Given the description of an element on the screen output the (x, y) to click on. 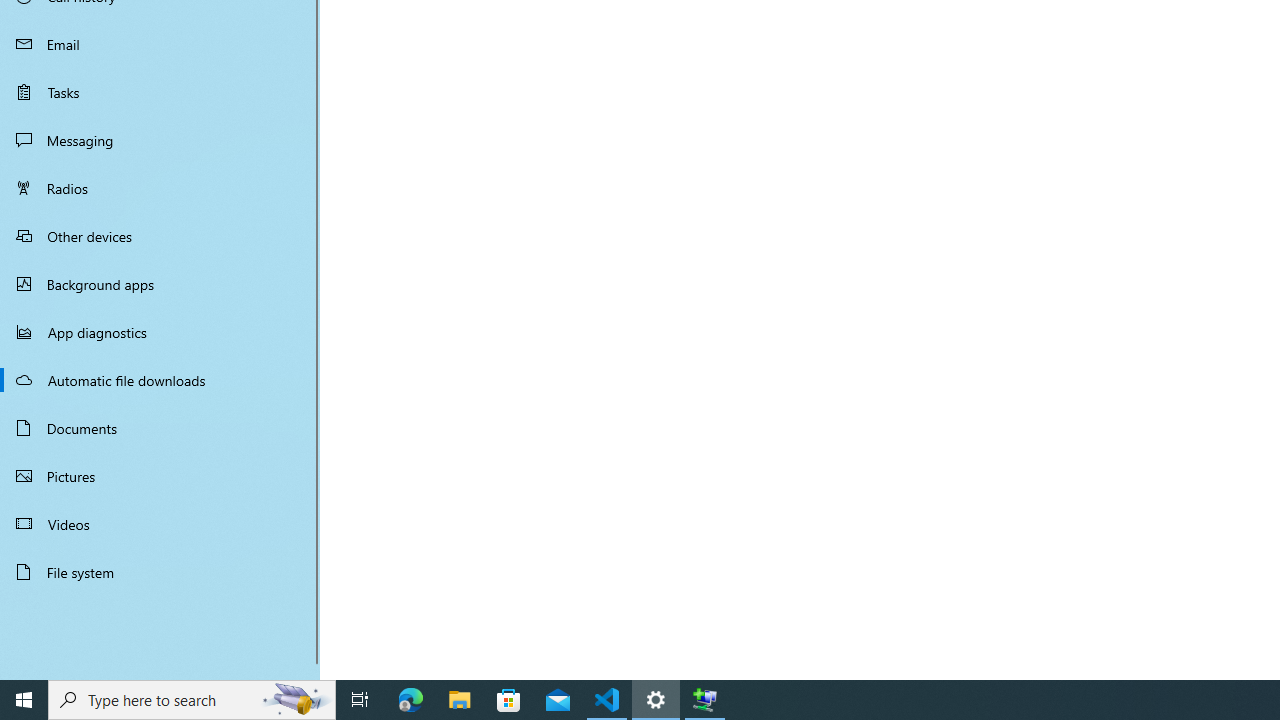
Automatic file downloads (160, 379)
Messaging (160, 139)
File system (160, 571)
Radios (160, 187)
